Given the description of an element on the screen output the (x, y) to click on. 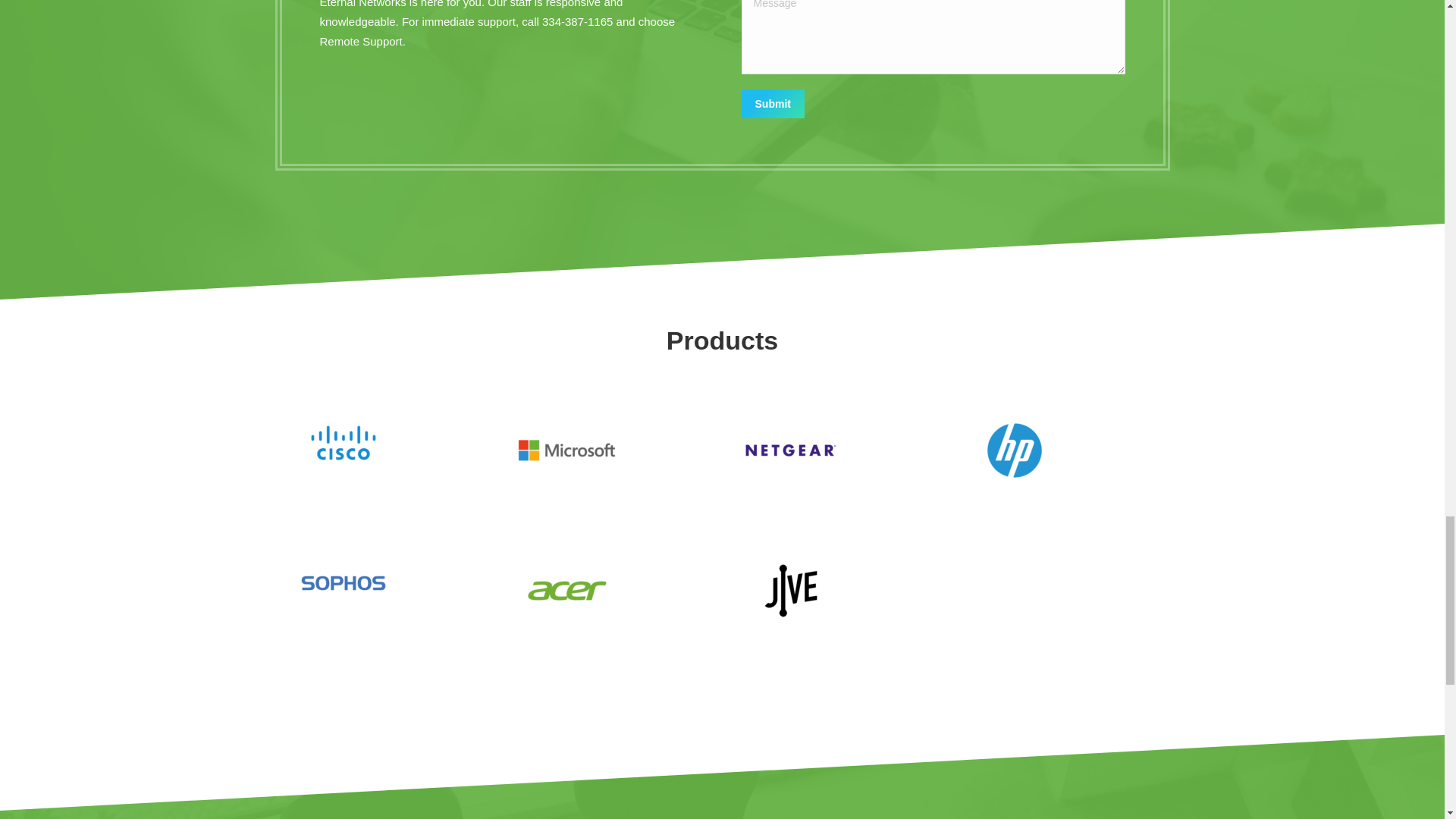
submit (844, 105)
submit (844, 105)
Submit (773, 103)
